Given the description of an element on the screen output the (x, y) to click on. 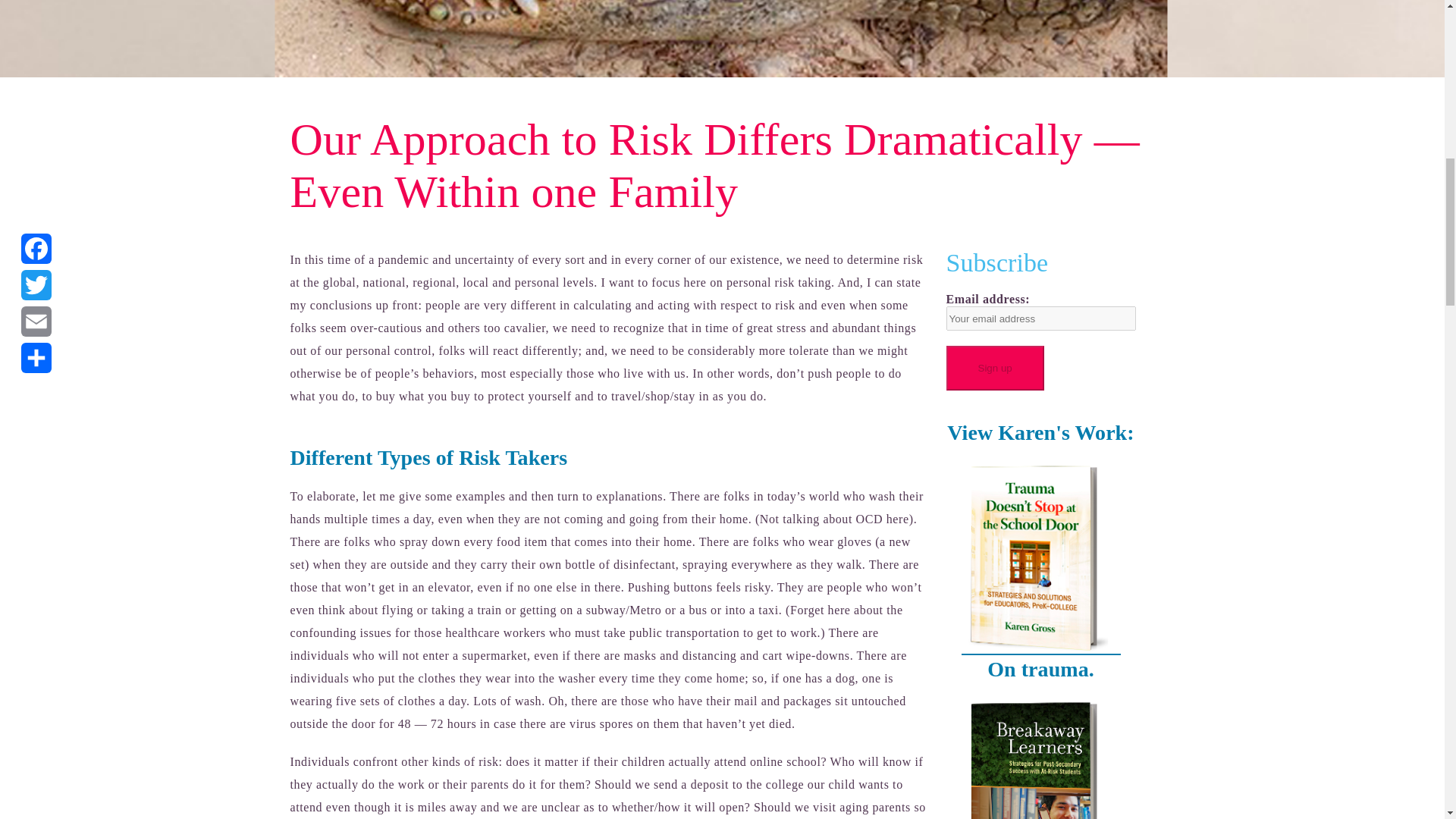
Sign up (994, 367)
